Given the description of an element on the screen output the (x, y) to click on. 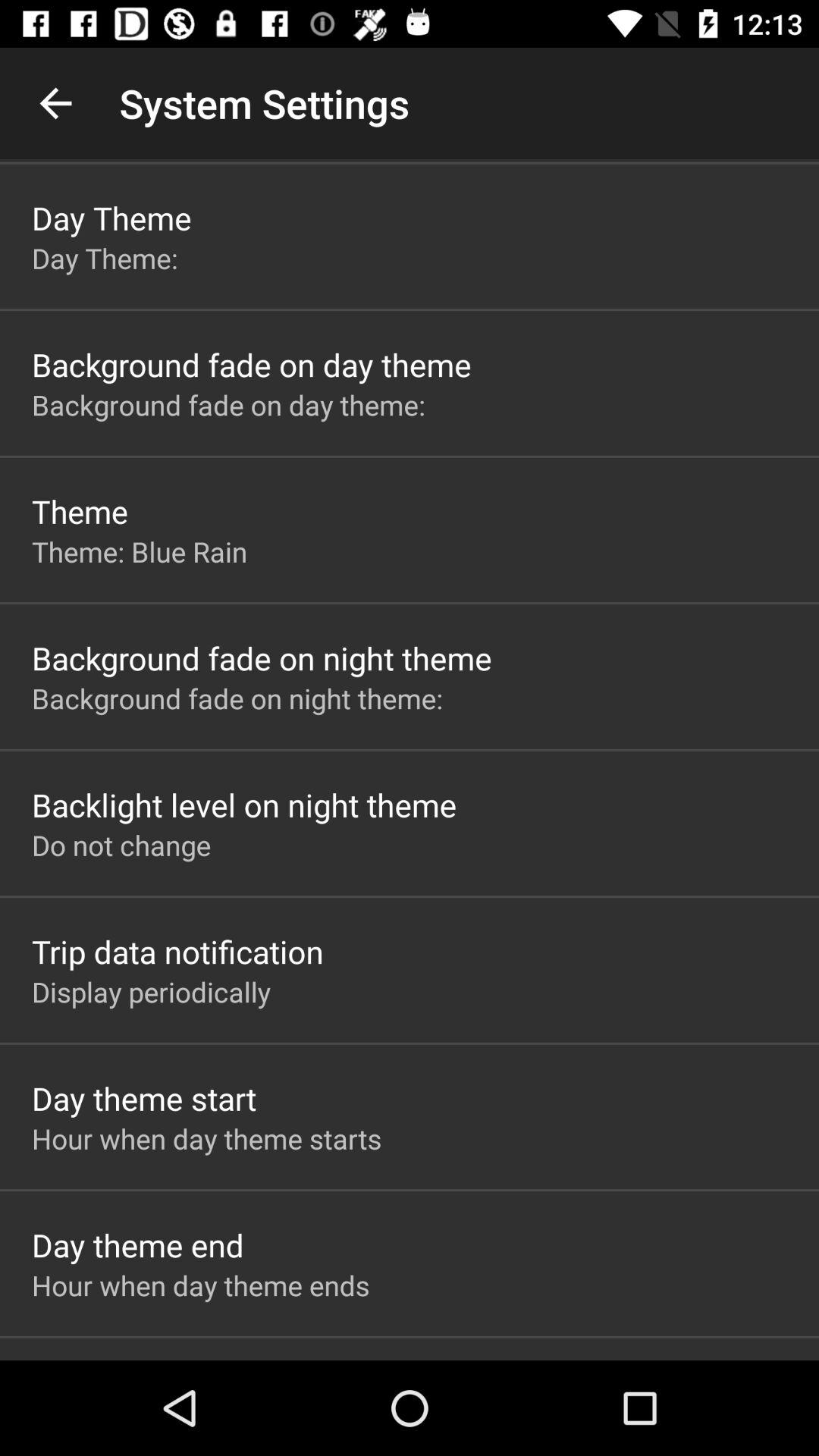
turn on the app below backlight level on app (121, 844)
